Given the description of an element on the screen output the (x, y) to click on. 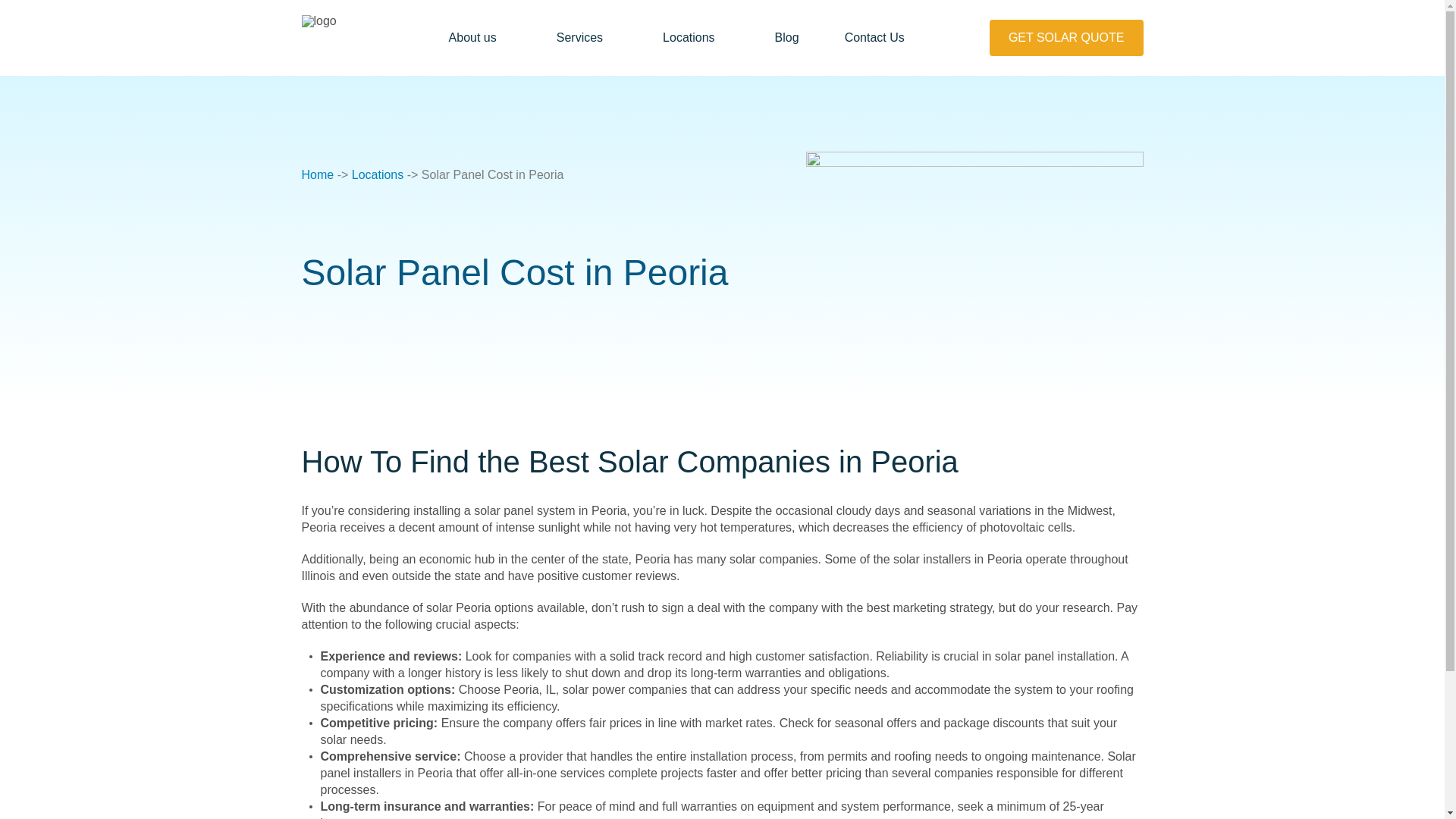
Locations (695, 37)
Home (317, 175)
Locations (378, 175)
About us (479, 37)
Contact Us (874, 37)
GET SOLAR QUOTE (1066, 37)
Blog (786, 37)
Services (586, 37)
